Given the description of an element on the screen output the (x, y) to click on. 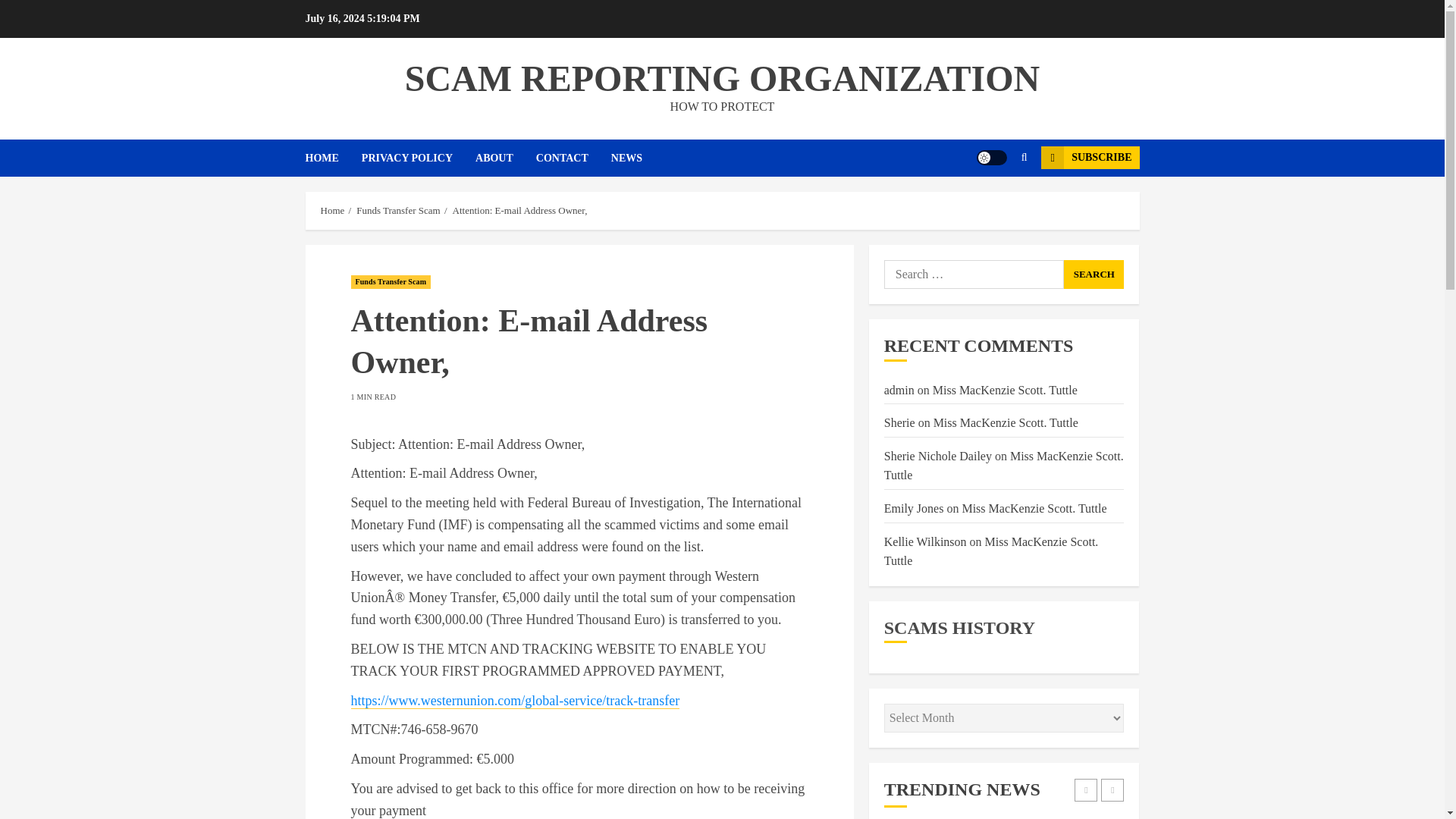
PRIVACY POLICY (418, 157)
SUBSCRIBE (1089, 157)
Miss MacKenzie Scott. Tuttle (1005, 422)
SCAM REPORTING ORGANIZATION (722, 78)
Search (994, 203)
CONTACT (573, 157)
Funds Transfer Scam (398, 210)
Miss MacKenzie Scott. Tuttle (991, 551)
Search (1023, 157)
Funds Transfer Scam (390, 282)
Miss MacKenzie Scott. Tuttle (1033, 508)
Miss MacKenzie Scott. Tuttle (1003, 466)
Search (1094, 274)
HOME (332, 157)
Search (1094, 274)
